Given the description of an element on the screen output the (x, y) to click on. 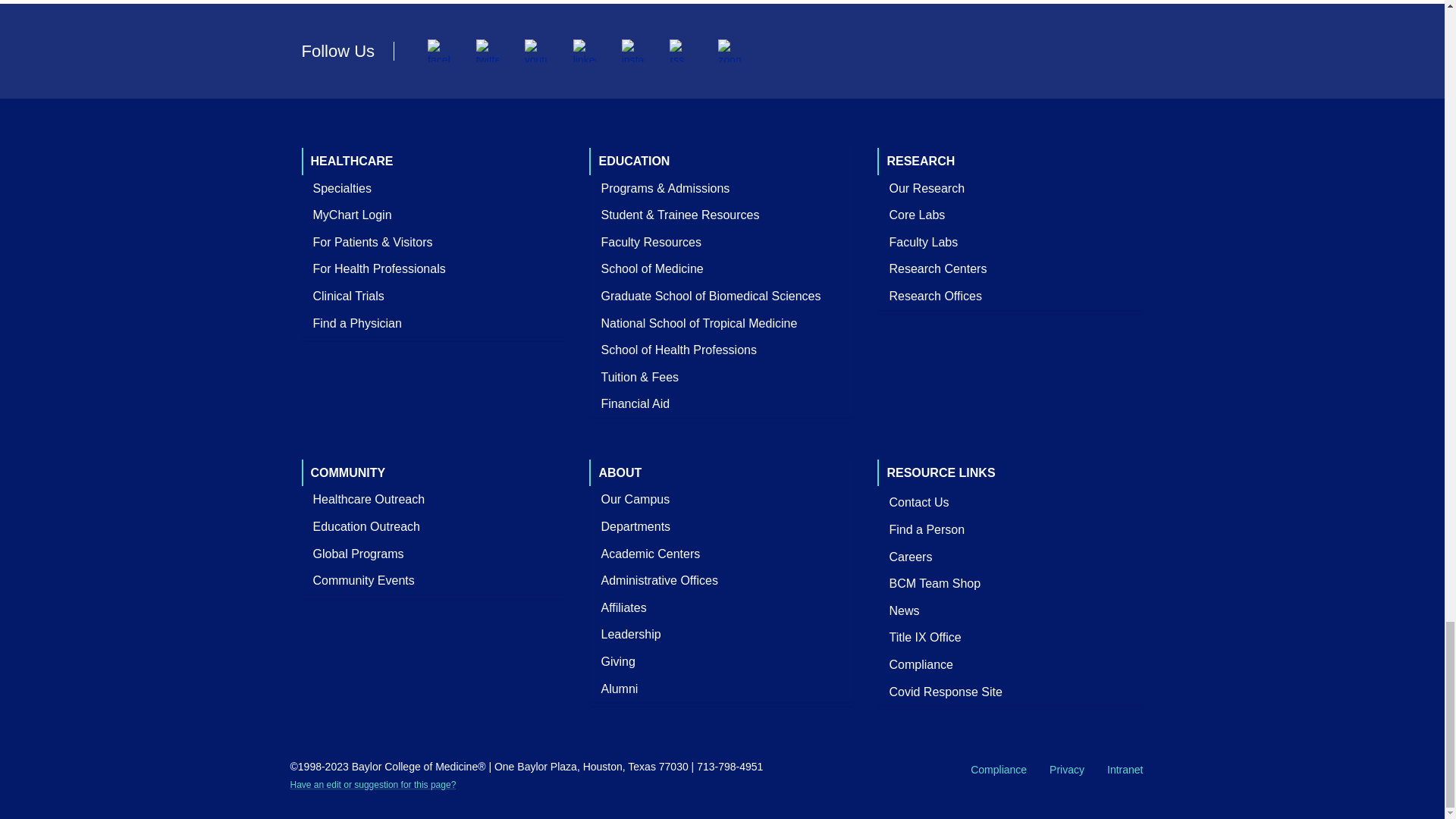
Compliance (920, 664)
Title IX and Gender Discrimination (924, 637)
Web Request (372, 784)
Covid Response Site (945, 691)
